Given the description of an element on the screen output the (x, y) to click on. 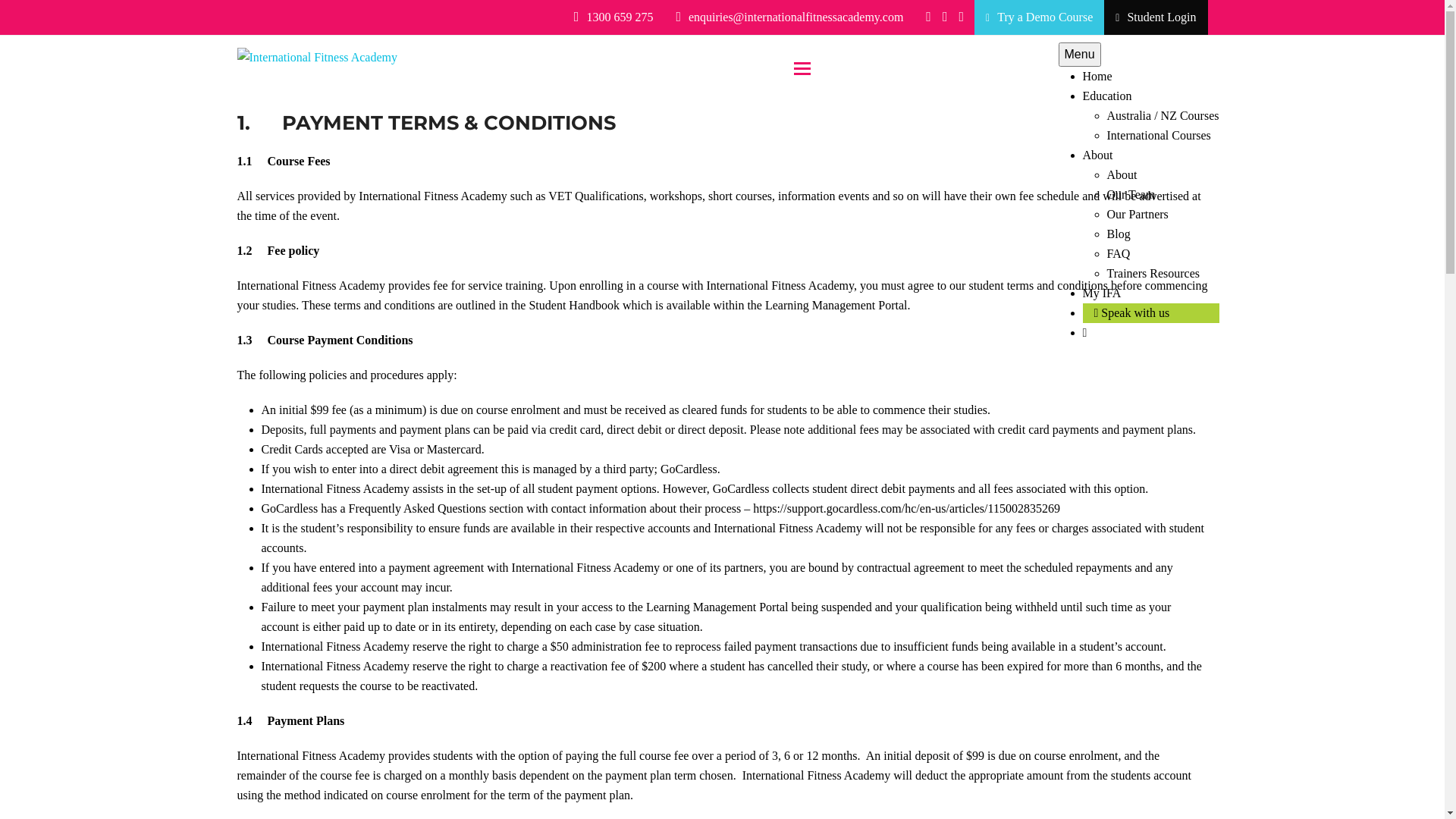
Student Login Element type: text (1155, 16)
Blog Element type: text (1118, 233)
International Courses Element type: text (1159, 134)
Try a Demo Course Element type: text (1044, 16)
Education Element type: text (1107, 95)
Trainers Resources Element type: text (1153, 272)
Our Team Element type: text (1131, 194)
1300 659 275 Element type: text (619, 16)
enquiries@internationalfitnessacademy.com Element type: text (795, 16)
About Element type: text (1097, 154)
FAQ Element type: text (1118, 253)
About Element type: text (1122, 174)
Our Partners Element type: text (1137, 213)
Australia / NZ Courses Element type: text (1163, 115)
Speak with us Element type: text (1132, 312)
Menu Element type: text (1079, 54)
My IFA Element type: text (1101, 292)
Home Element type: text (1097, 75)
